Given the description of an element on the screen output the (x, y) to click on. 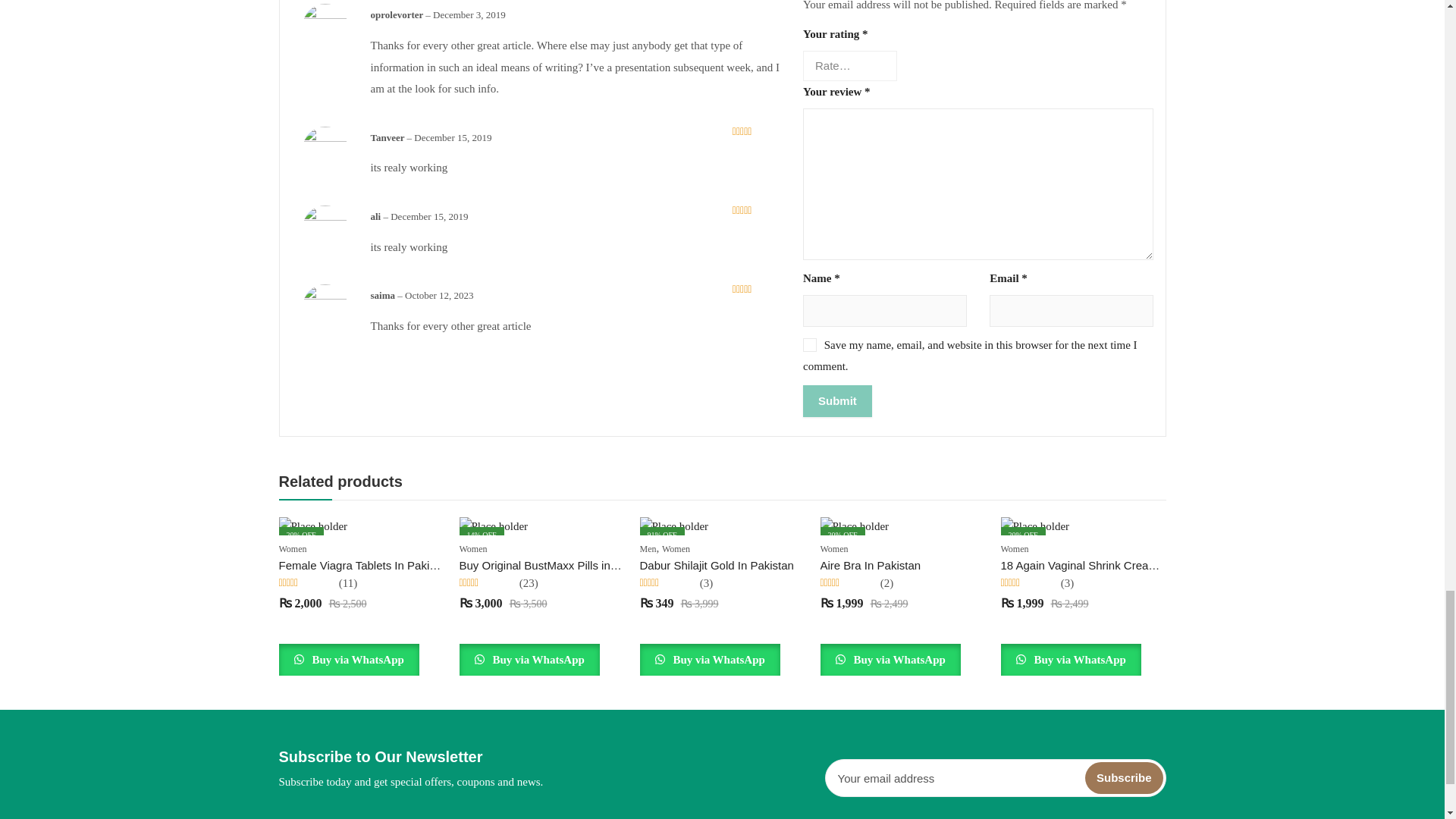
Submit (837, 400)
yes (809, 345)
Subscribe (1123, 777)
Complete order on WhatsApp to buy Aire Bra In Pakistan (890, 659)
